Given the description of an element on the screen output the (x, y) to click on. 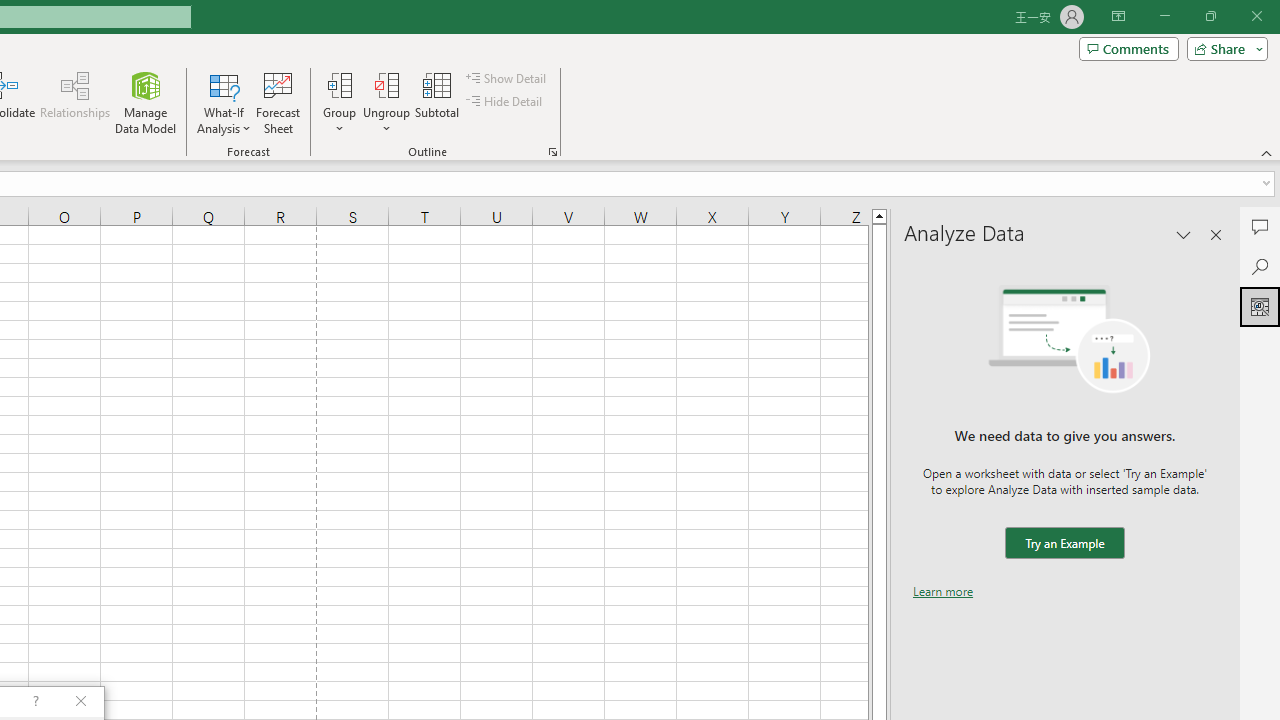
We need data to give you answers. Try an Example (1064, 543)
